Given the description of an element on the screen output the (x, y) to click on. 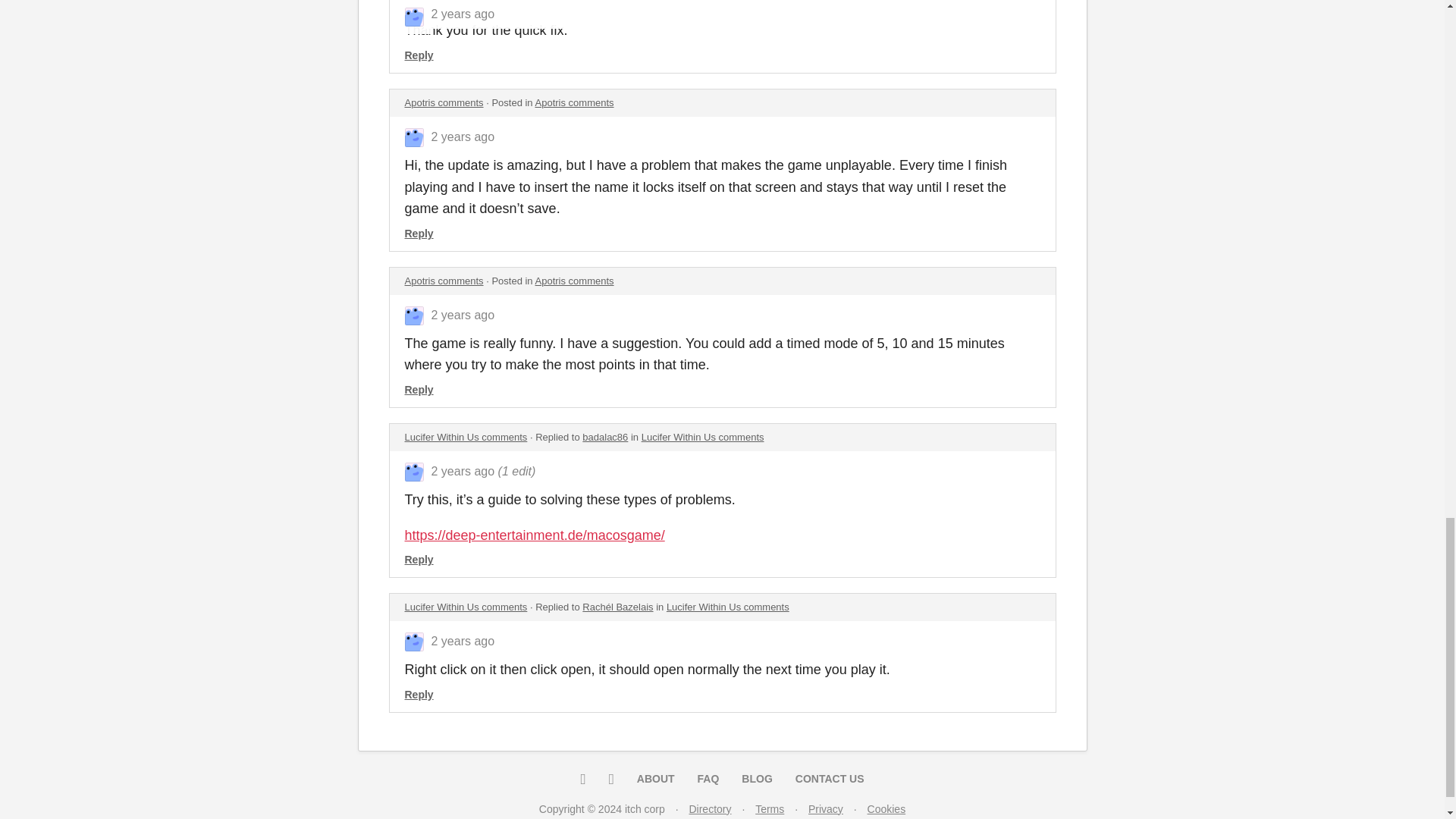
2022-05-07 16:14:48 (462, 4)
2022-05-07 14:21:26 (462, 136)
2022-03-09 11:21:27 (462, 471)
2022-04-27 21:34:06 (462, 314)
2022-03-09 09:50:40 (462, 640)
